Given the description of an element on the screen output the (x, y) to click on. 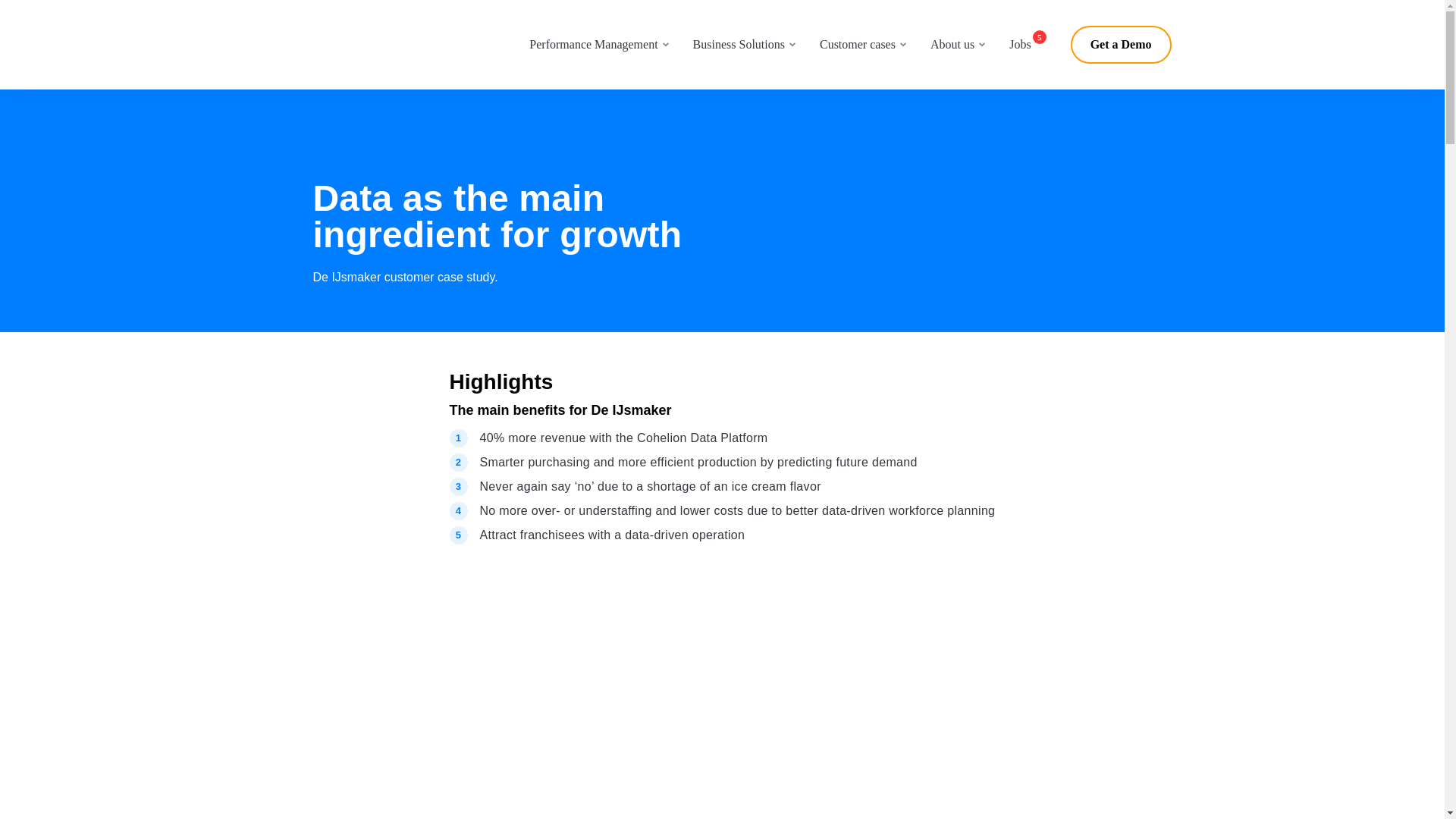
About us (952, 44)
Get a Demo (1121, 44)
Performance Management (593, 44)
Customer cases (857, 44)
Jobs (1027, 45)
Business Solutions (738, 44)
